Given the description of an element on the screen output the (x, y) to click on. 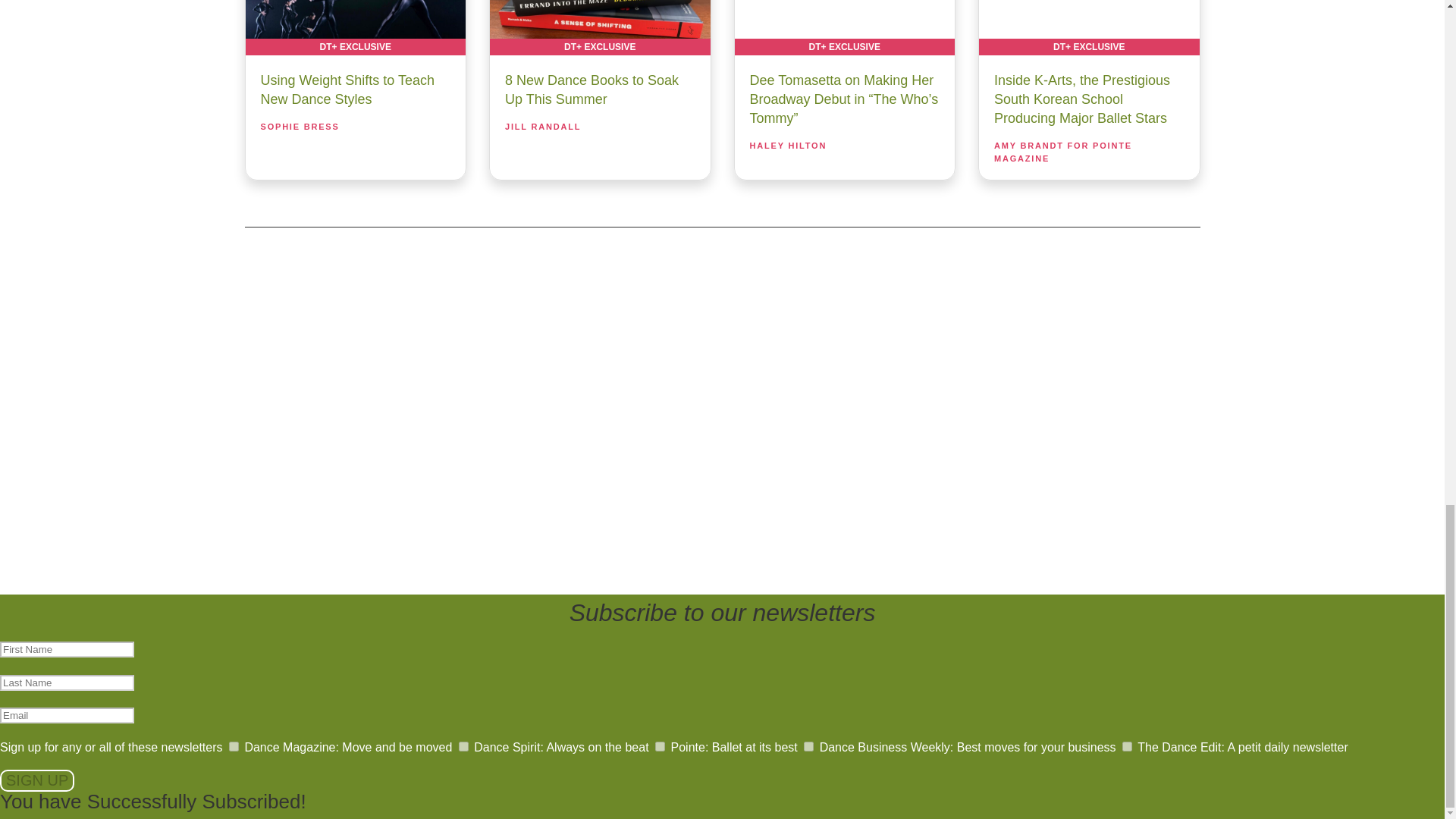
Dance Spirit: Always on the beat (463, 746)
Using Weight Shifts to Teach New Dance Styles (355, 27)
Pointe: Ballet at its best (660, 746)
8 New Dance Books to Soak Up This Summer (599, 27)
Dance Business Weekly: Best moves for your business (808, 746)
Dance Magazine: Move and be moved (233, 746)
Follow on Facebook (645, 395)
The Dance Edit: A petit daily newsletter (1127, 746)
